Given the description of an element on the screen output the (x, y) to click on. 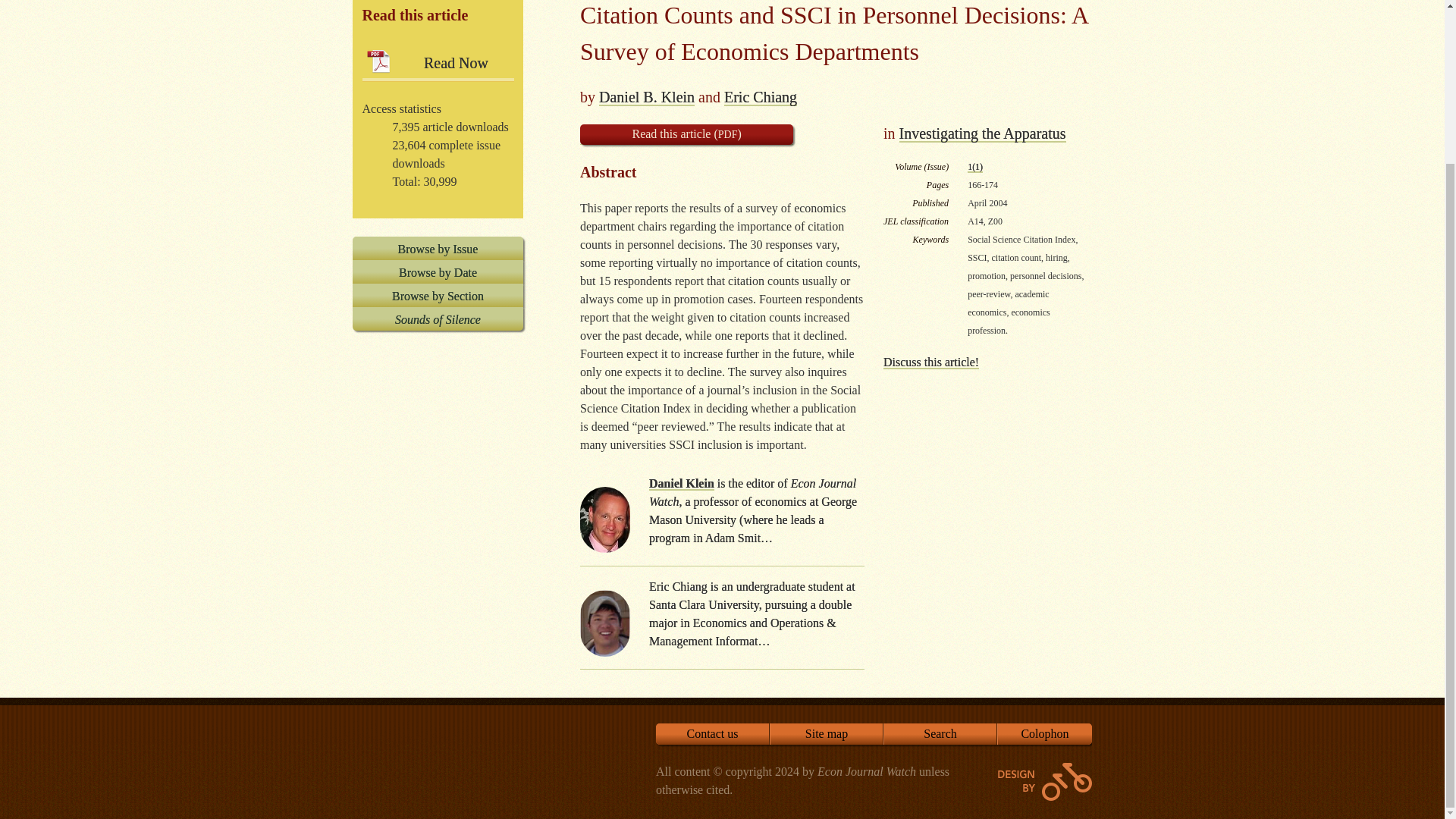
Daniel B. Klein (646, 96)
Web design by John Stephens (1044, 781)
Discuss this article! (930, 360)
Browse by Section (437, 295)
Focused, Friendly design for learning organizations (1044, 781)
Browse by Date (437, 270)
Portable Document Format (727, 134)
Sounds of Silence (437, 318)
Investigating the Apparatus (982, 132)
Journal of Economic Literature (890, 220)
Contact us (713, 733)
Browse by Issue (437, 248)
Eric Chiang (759, 96)
Site map (826, 733)
Search (940, 733)
